Given the description of an element on the screen output the (x, y) to click on. 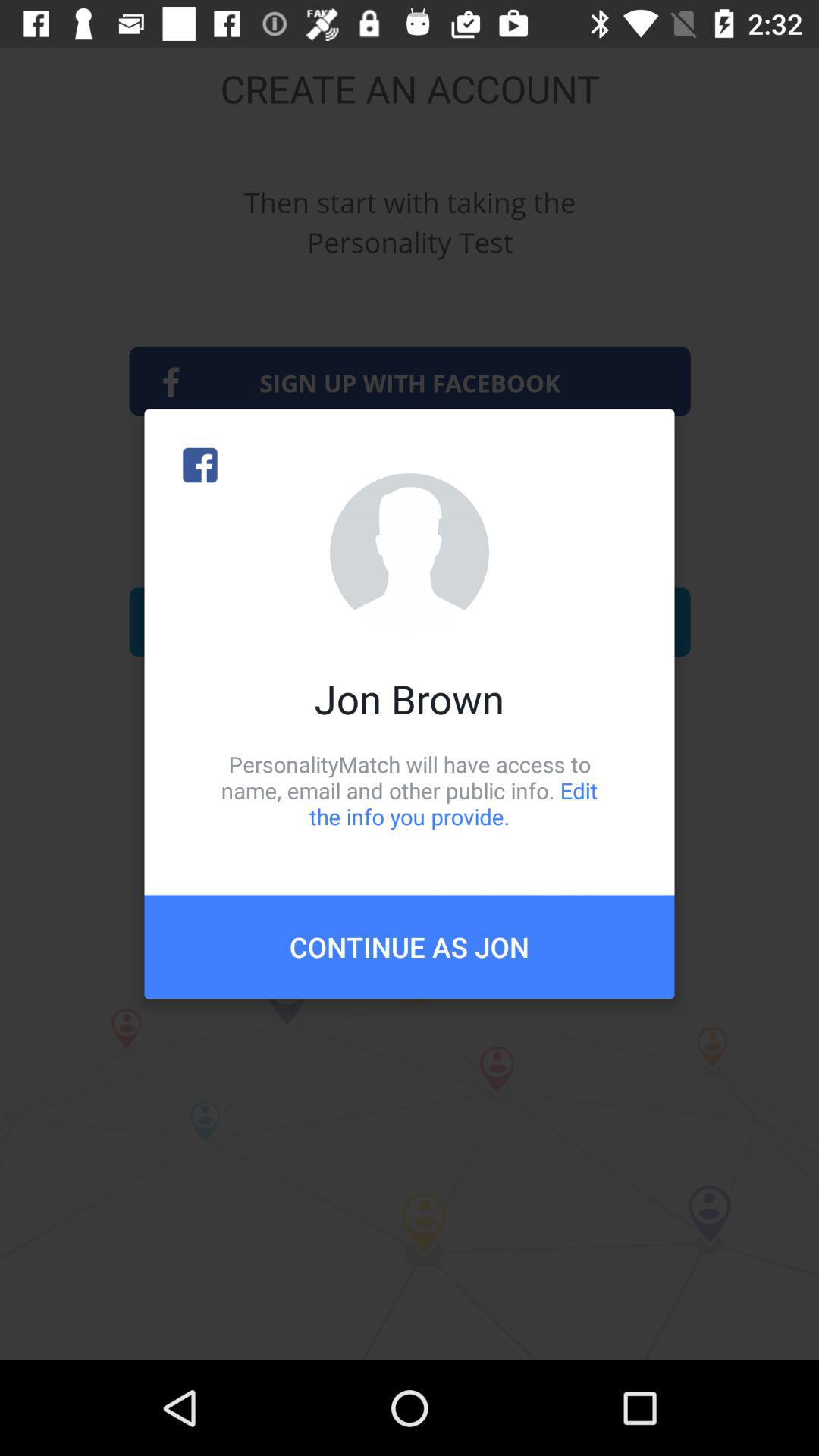
click the item above continue as jon (409, 790)
